Given the description of an element on the screen output the (x, y) to click on. 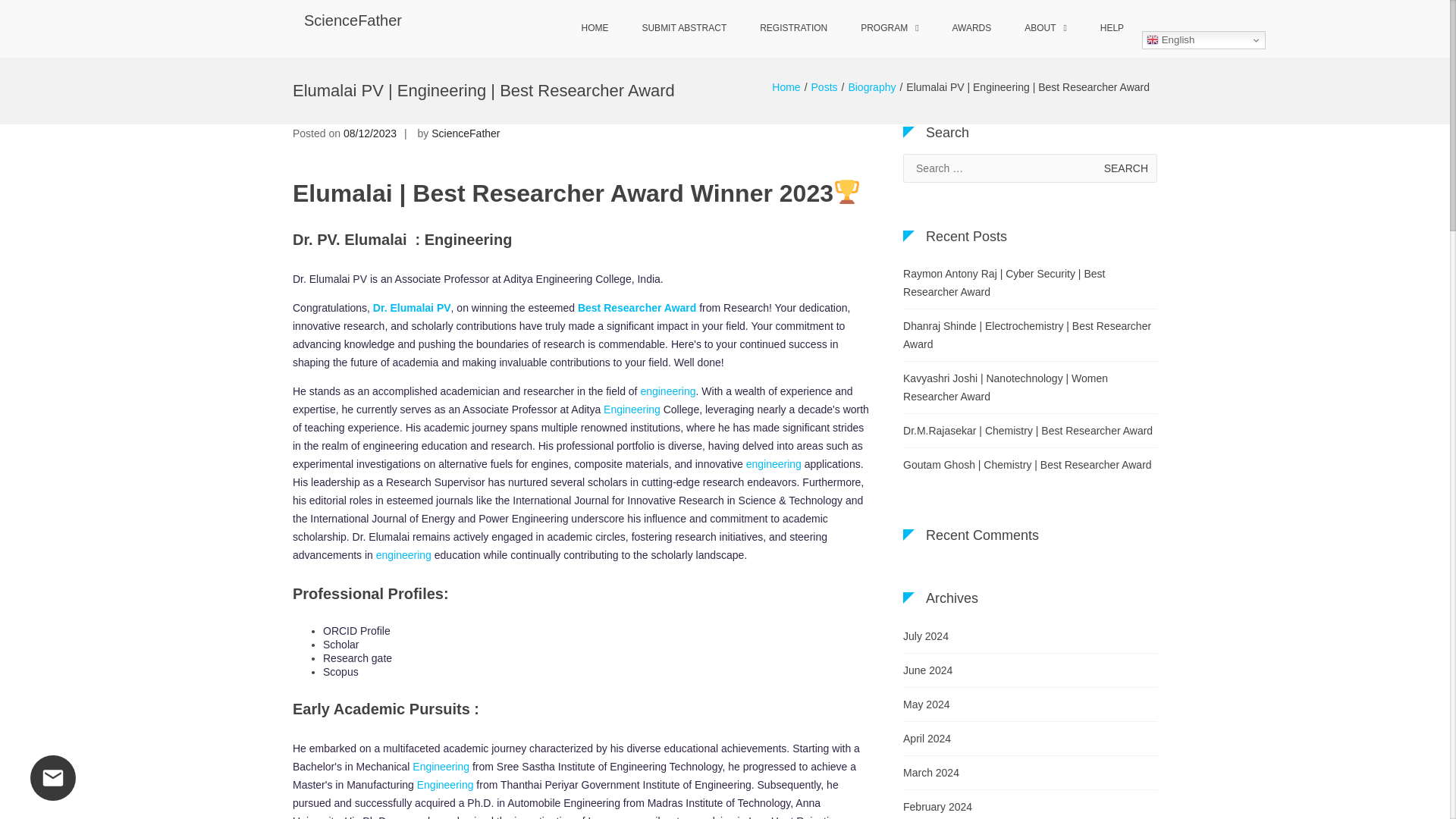
AWARDS (971, 28)
English (1203, 40)
ABOUT (1045, 28)
ScienceFather (352, 20)
Search (1125, 167)
Dr. Elumalai PV (411, 307)
Engineering (632, 409)
SUBMIT ABSTRACT (683, 28)
ScienceFather (464, 133)
engineering (773, 463)
Biography (871, 87)
Home (785, 87)
Search (1125, 167)
PROGRAM (889, 28)
HELP (1111, 28)
